Given the description of an element on the screen output the (x, y) to click on. 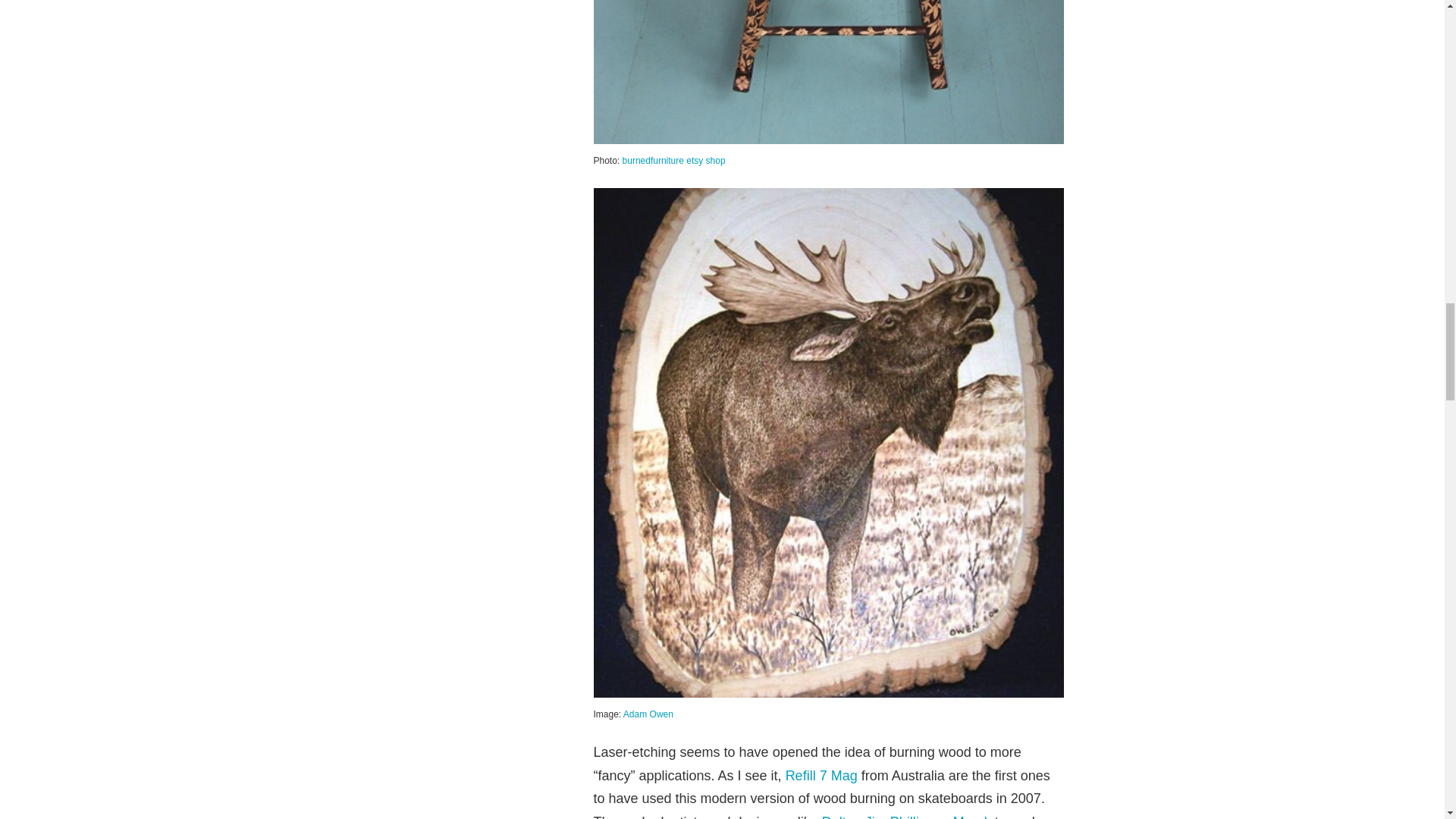
Refill 7 Mag (821, 775)
Adam Owen (647, 714)
Jim Phillips (898, 816)
burnedfurniture etsy shop (674, 160)
Marok (972, 816)
Delta (837, 816)
